Given the description of an element on the screen output the (x, y) to click on. 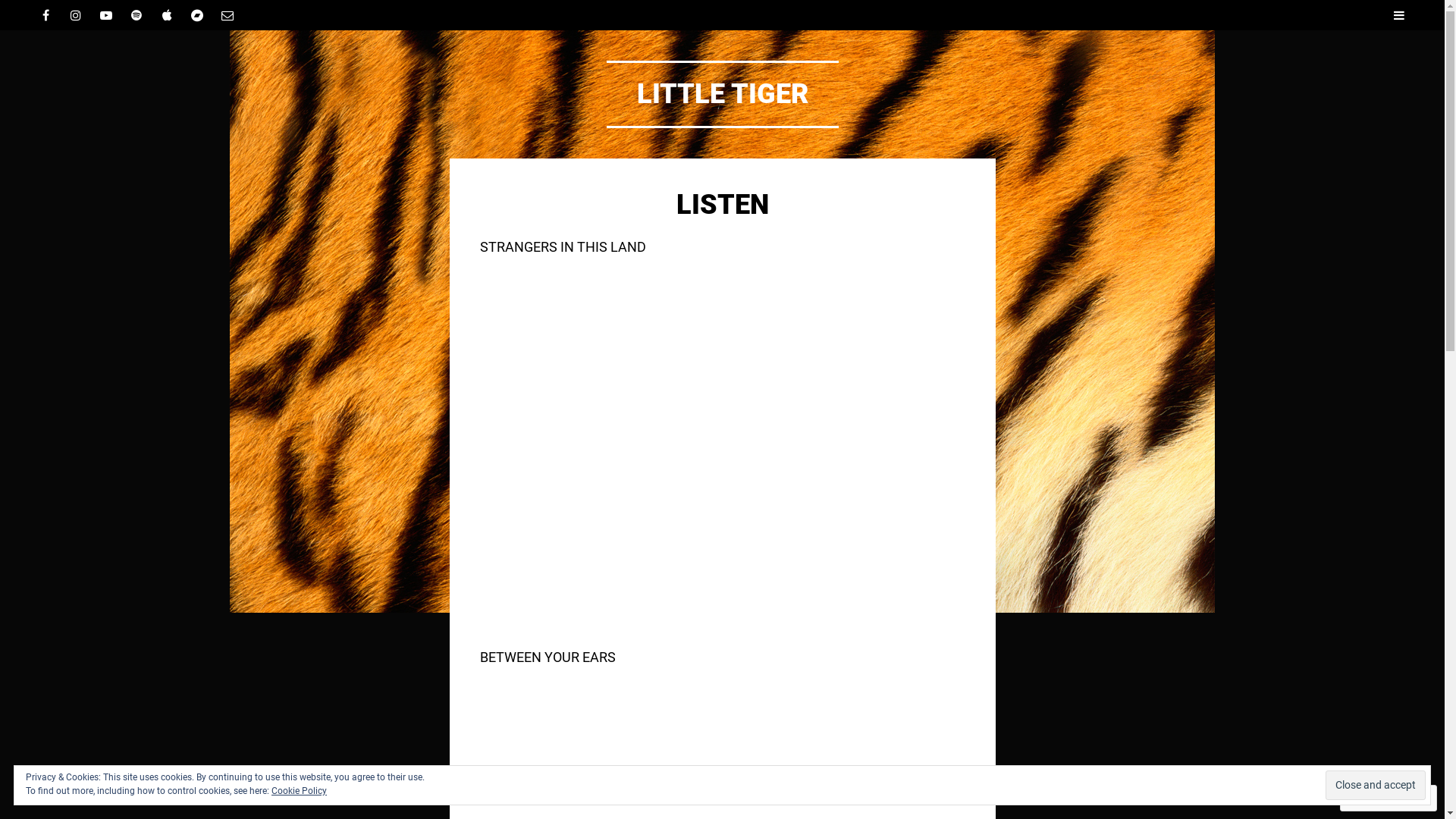
Follow Element type: text (1374, 797)
Cookie Policy Element type: text (298, 790)
Bandcamp Element type: hover (197, 15)
Facebook Element type: hover (45, 15)
Instagram Element type: hover (75, 15)
iTunes Element type: hover (166, 15)
Spotify Element type: hover (136, 15)
YouTube Element type: hover (106, 15)
LITTLE TIGER Element type: text (722, 93)
Close and accept Element type: text (1375, 785)
Email Element type: hover (227, 15)
